Given the description of an element on the screen output the (x, y) to click on. 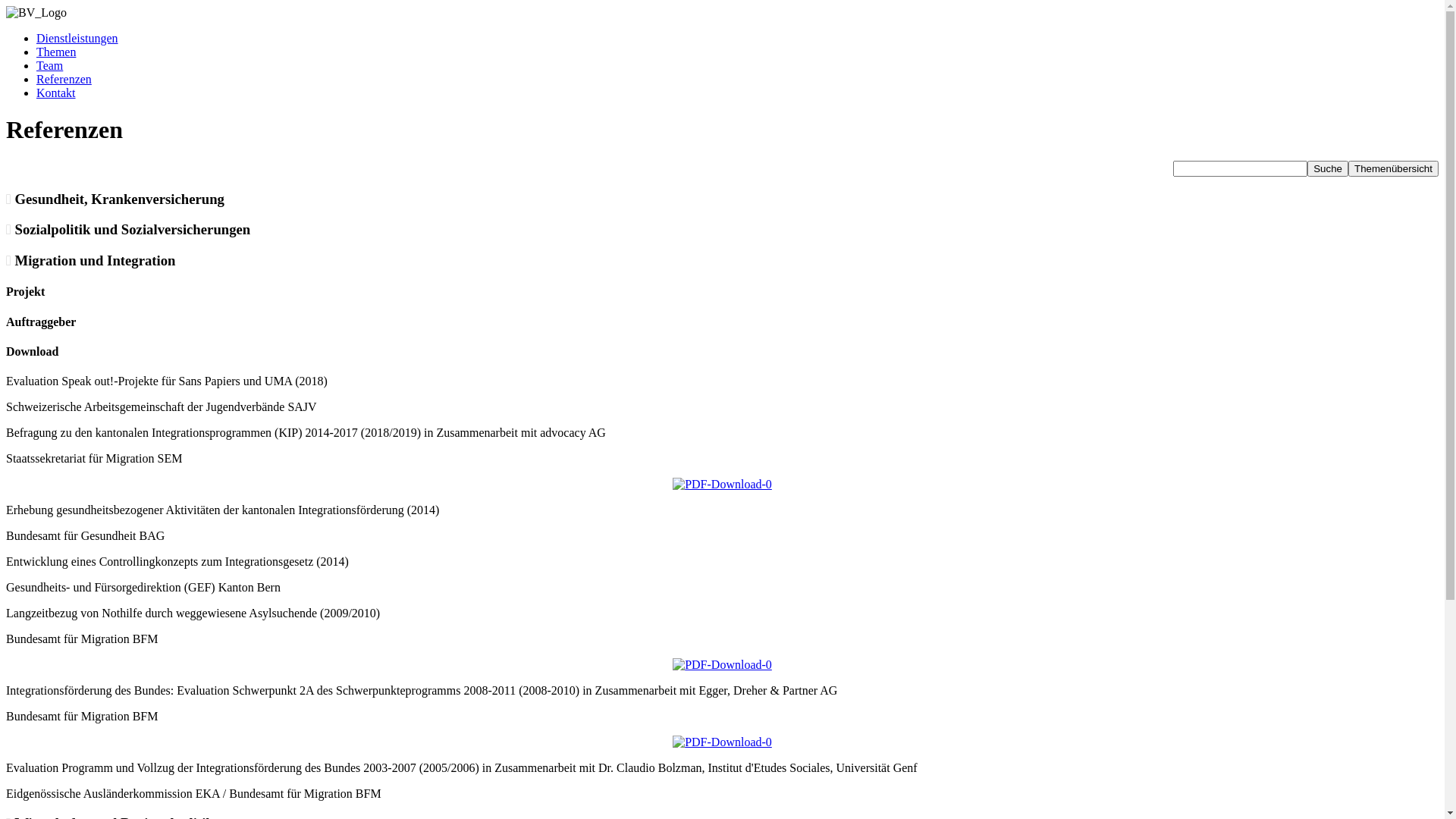
Themen Element type: text (55, 51)
Referenzen Element type: text (63, 78)
Dienstleistungen Element type: text (77, 37)
Kontakt Element type: text (55, 92)
Team Element type: text (49, 65)
Suche Element type: text (1327, 168)
